Given the description of an element on the screen output the (x, y) to click on. 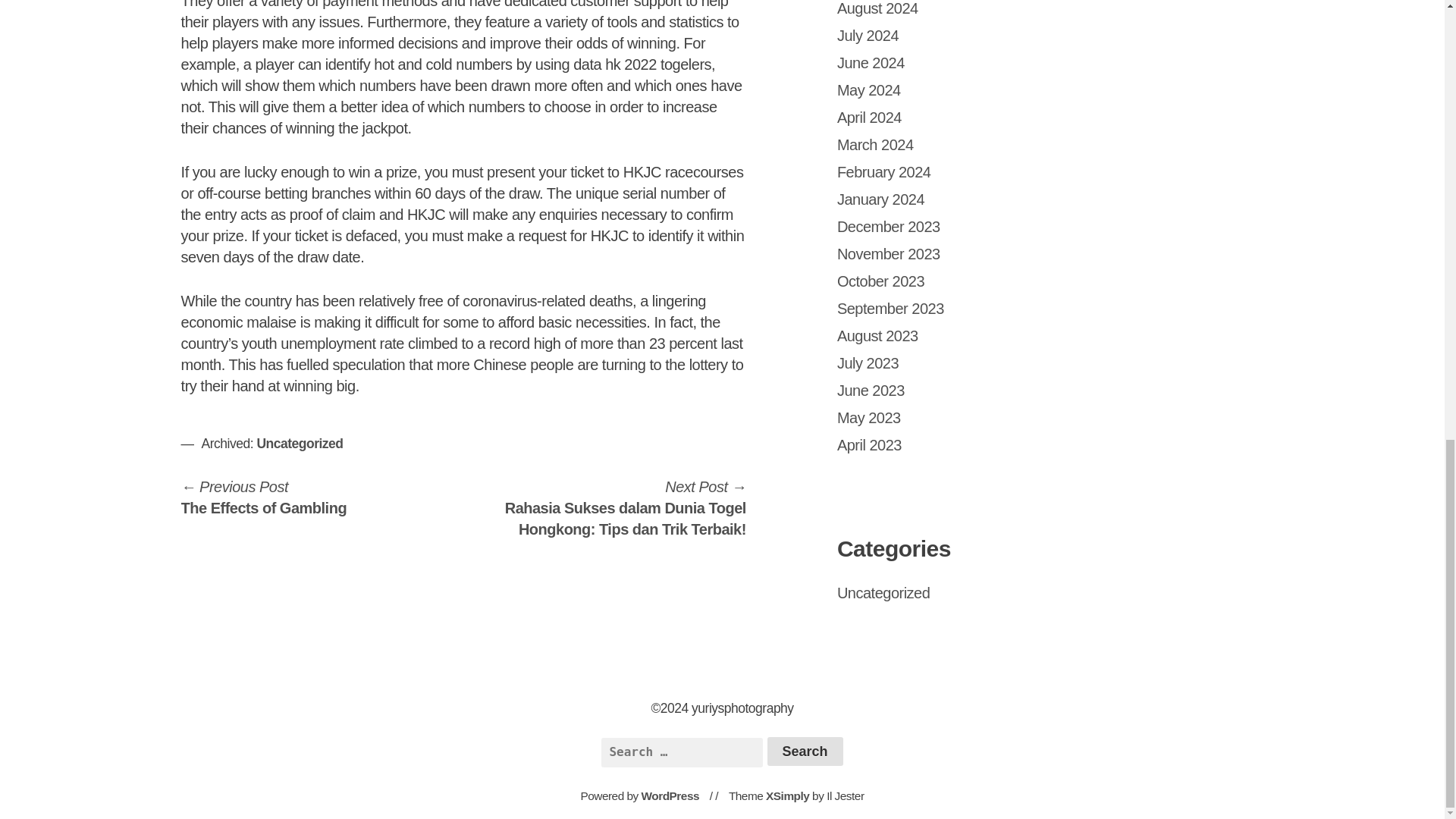
April 2024 (869, 117)
January 2024 (263, 497)
December 2023 (880, 199)
June 2024 (888, 226)
August 2023 (870, 62)
March 2024 (877, 335)
November 2023 (875, 144)
August 2024 (888, 253)
